Given the description of an element on the screen output the (x, y) to click on. 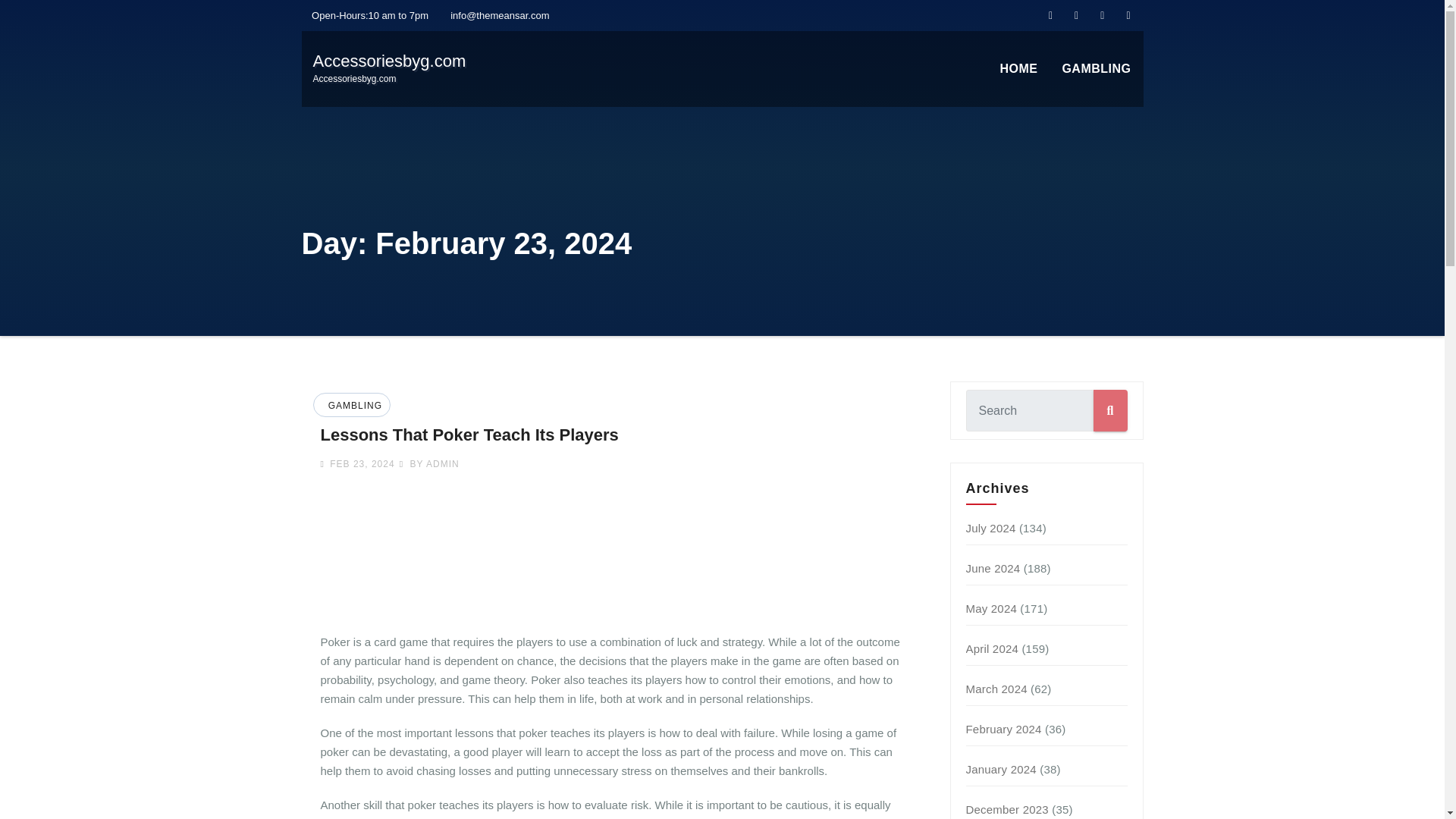
Gambling (1095, 69)
GAMBLING (352, 405)
Permalink to: Lessons That Poker Teach Its Players (468, 434)
May 2024 (389, 68)
April 2024 (991, 608)
January 2024 (992, 648)
GAMBLING (1001, 768)
June 2024 (1095, 69)
BY ADMIN (993, 567)
March 2024 (429, 463)
December 2023 (996, 688)
HOME (1007, 809)
Home (1018, 69)
FEB 23, 2024 (1018, 69)
